Given the description of an element on the screen output the (x, y) to click on. 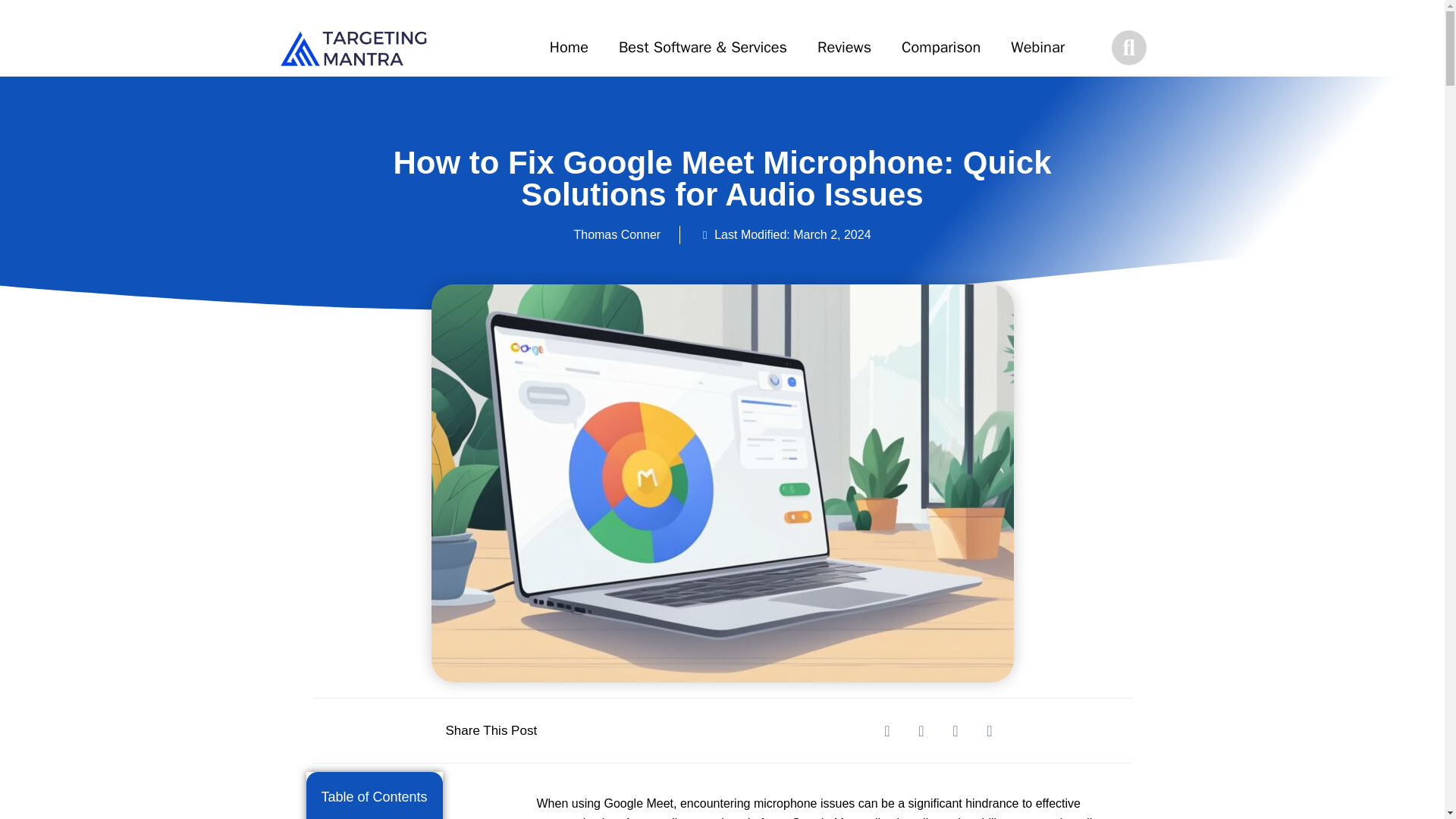
Comparison (940, 47)
Thomas Conner (617, 235)
Reviews (844, 47)
Webinar (1037, 47)
Home (569, 47)
